Given the description of an element on the screen output the (x, y) to click on. 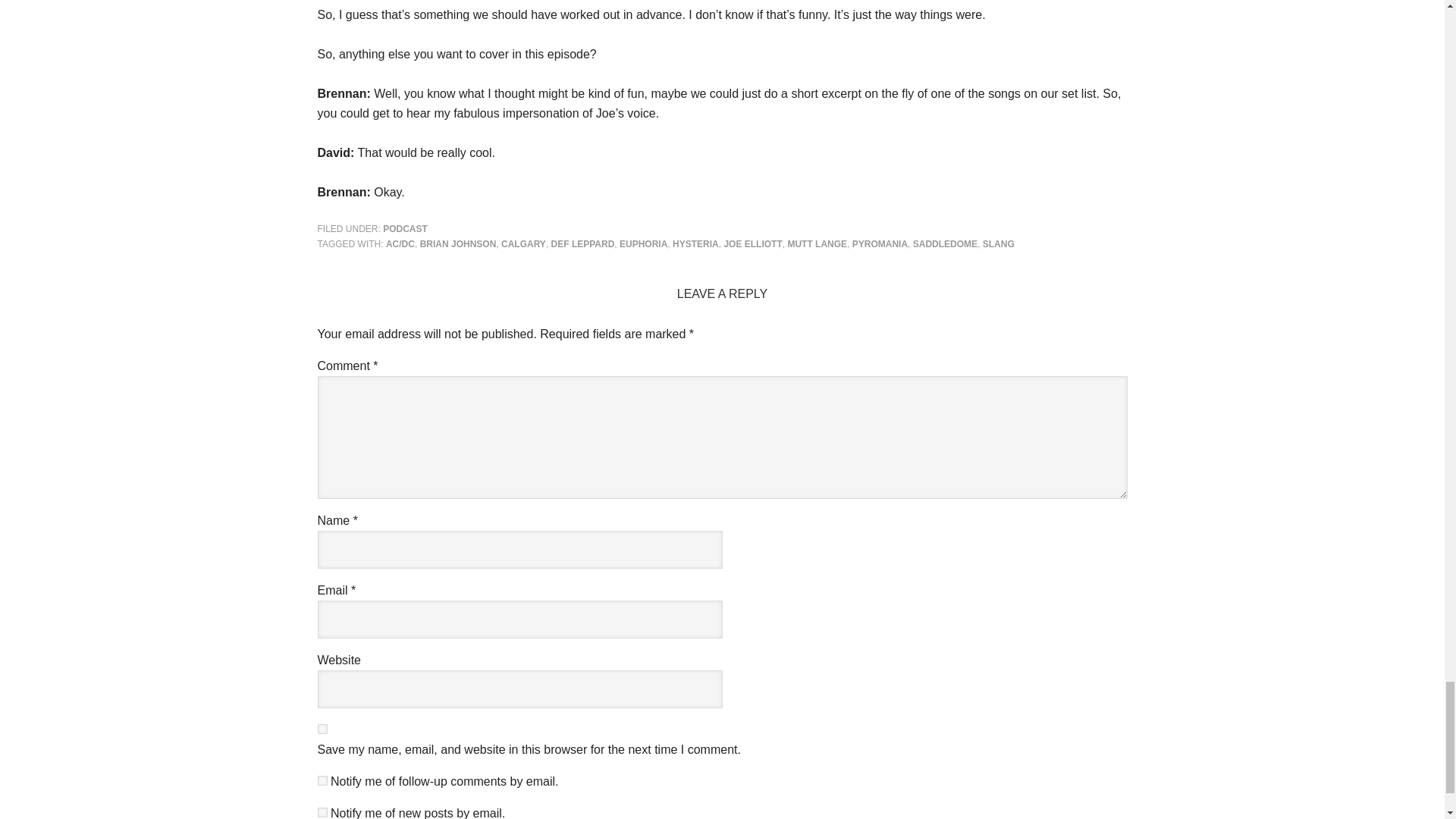
MUTT LANGE (817, 244)
CALGARY (523, 244)
yes (321, 728)
EUPHORIA (643, 244)
DEF LEPPARD (582, 244)
SLANG (998, 244)
SADDLEDOME (944, 244)
HYSTERIA (695, 244)
subscribe (321, 780)
JOE ELLIOTT (752, 244)
PYROMANIA (879, 244)
BRIAN JOHNSON (458, 244)
PODCAST (405, 228)
subscribe (321, 812)
